Given the description of an element on the screen output the (x, y) to click on. 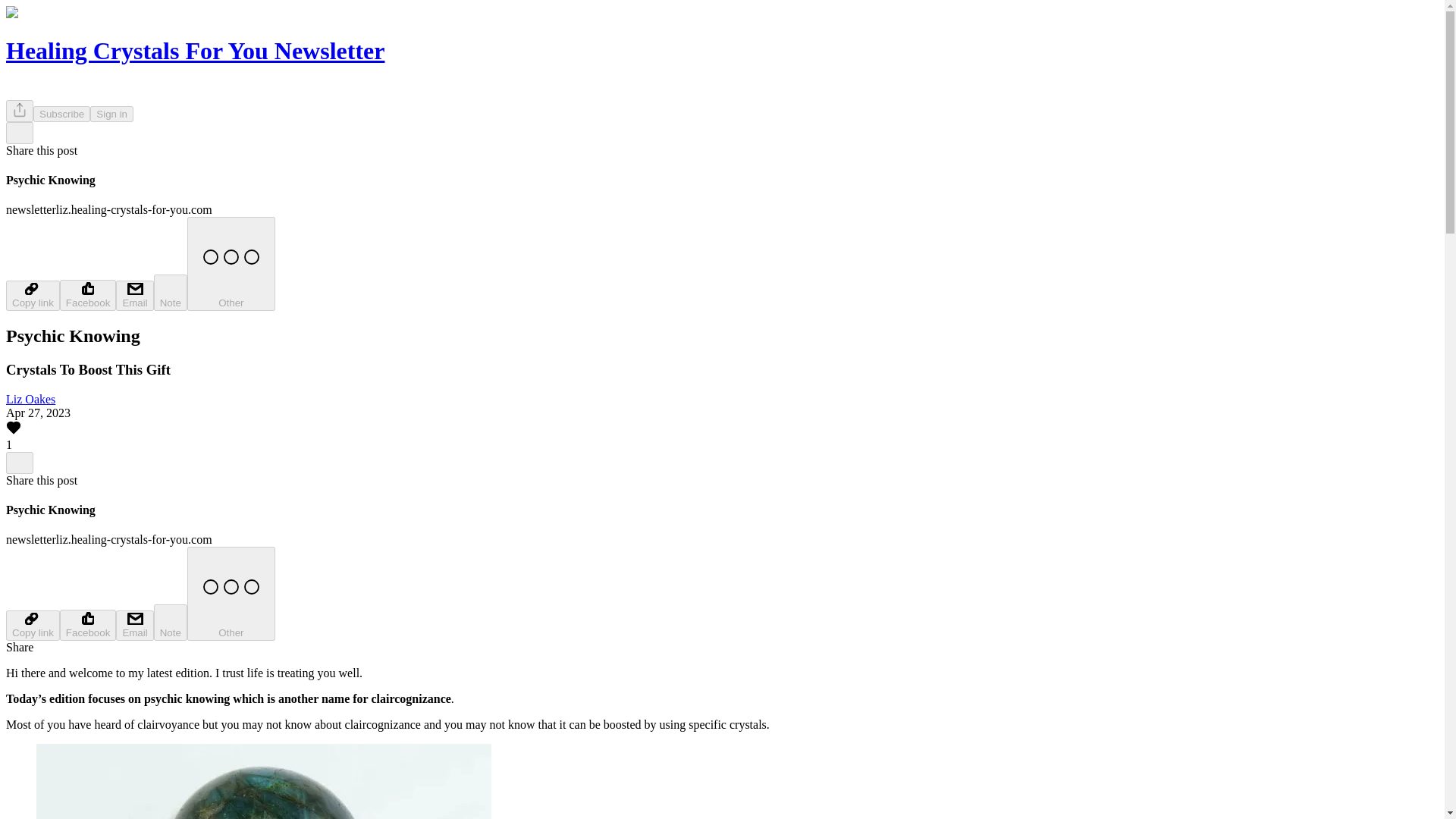
Liz Oakes (30, 399)
Sign in (111, 114)
Copy link (32, 295)
Copy link (32, 625)
Facebook (87, 295)
Healing Crystals For You Newsletter (194, 50)
Subscribe (61, 114)
Other (231, 593)
Email (134, 295)
Facebook (87, 624)
Other (231, 264)
Labradorite Sphere (264, 781)
Note (170, 292)
Note (170, 622)
Email (134, 625)
